Given the description of an element on the screen output the (x, y) to click on. 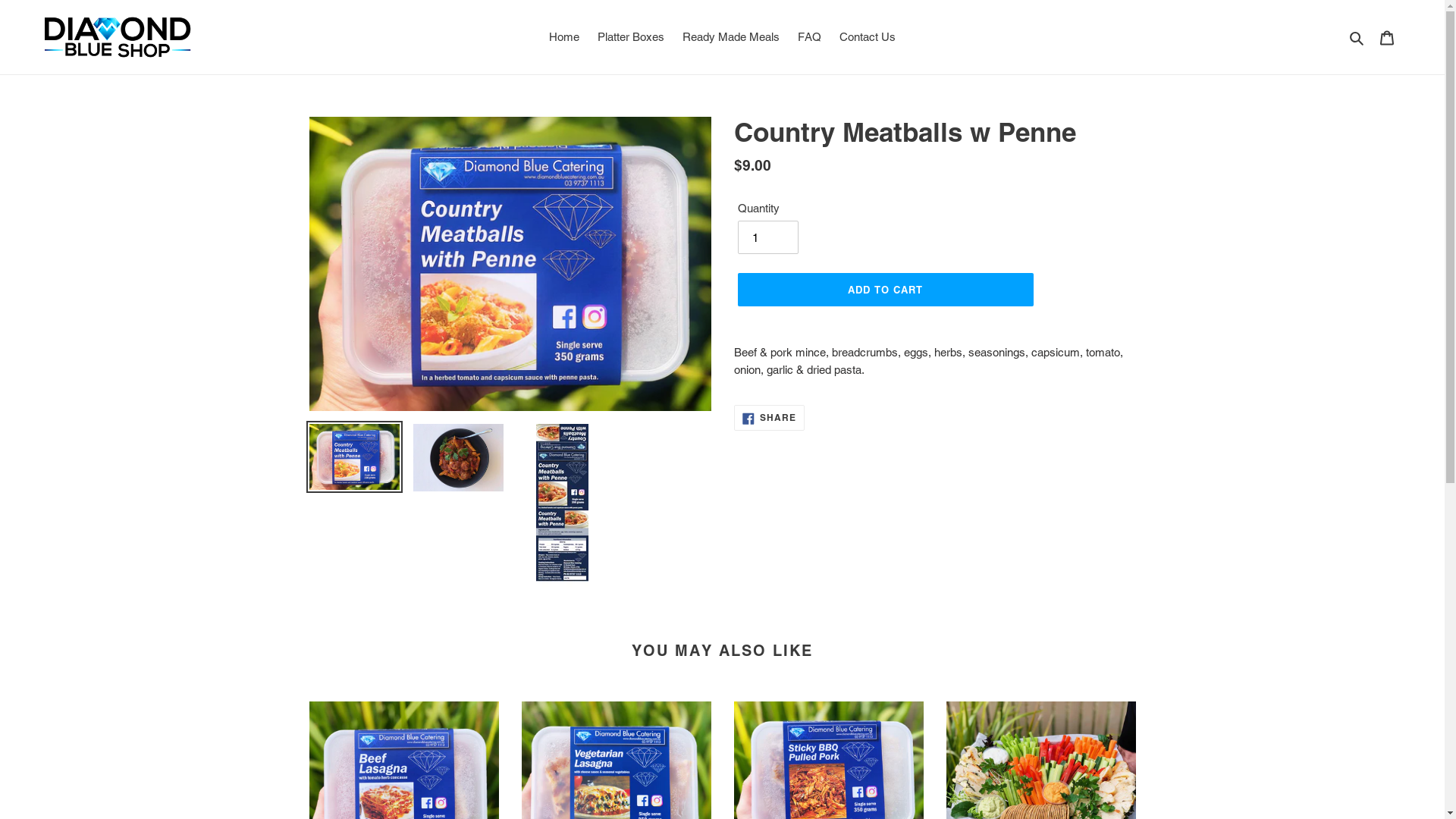
FAQ Element type: text (809, 37)
Home Element type: text (563, 37)
Ready Made Meals Element type: text (730, 37)
ADD TO CART Element type: text (884, 290)
SHARE
SHARE ON FACEBOOK Element type: text (769, 418)
Cart Element type: text (1386, 37)
Search Element type: text (1357, 37)
Platter Boxes Element type: text (630, 37)
Contact Us Element type: text (867, 37)
